Given the description of an element on the screen output the (x, y) to click on. 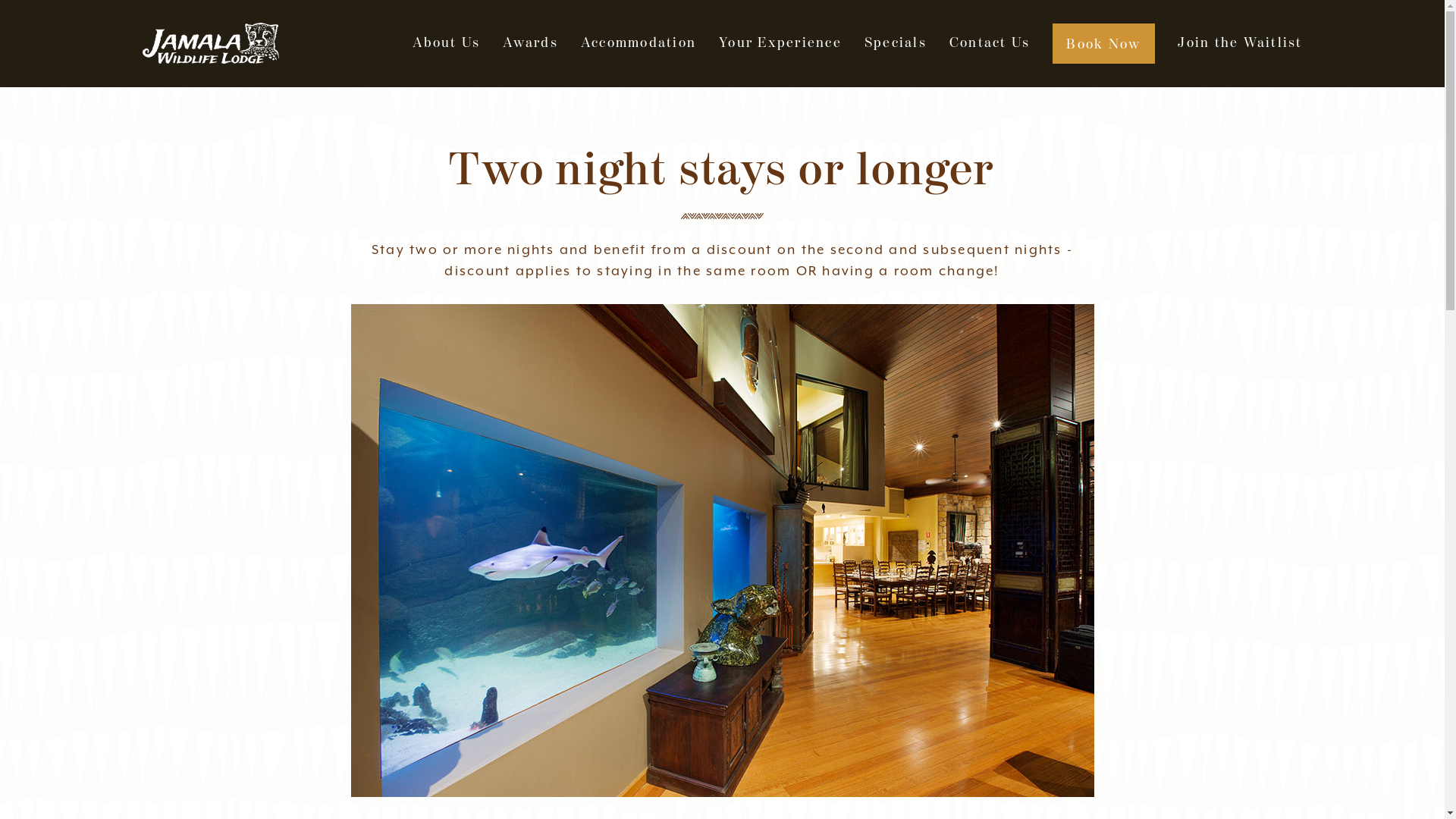
Specials Element type: text (895, 42)
About Us Element type: text (446, 42)
Contact Us Element type: text (989, 42)
Accommodation Element type: text (638, 42)
Jamala Wildlife Lodge Element type: text (210, 43)
Join the Waitlist Element type: text (1239, 42)
Your Experience Element type: text (779, 42)
Book Now Element type: text (1103, 42)
Awards Element type: text (530, 42)
